Given the description of an element on the screen output the (x, y) to click on. 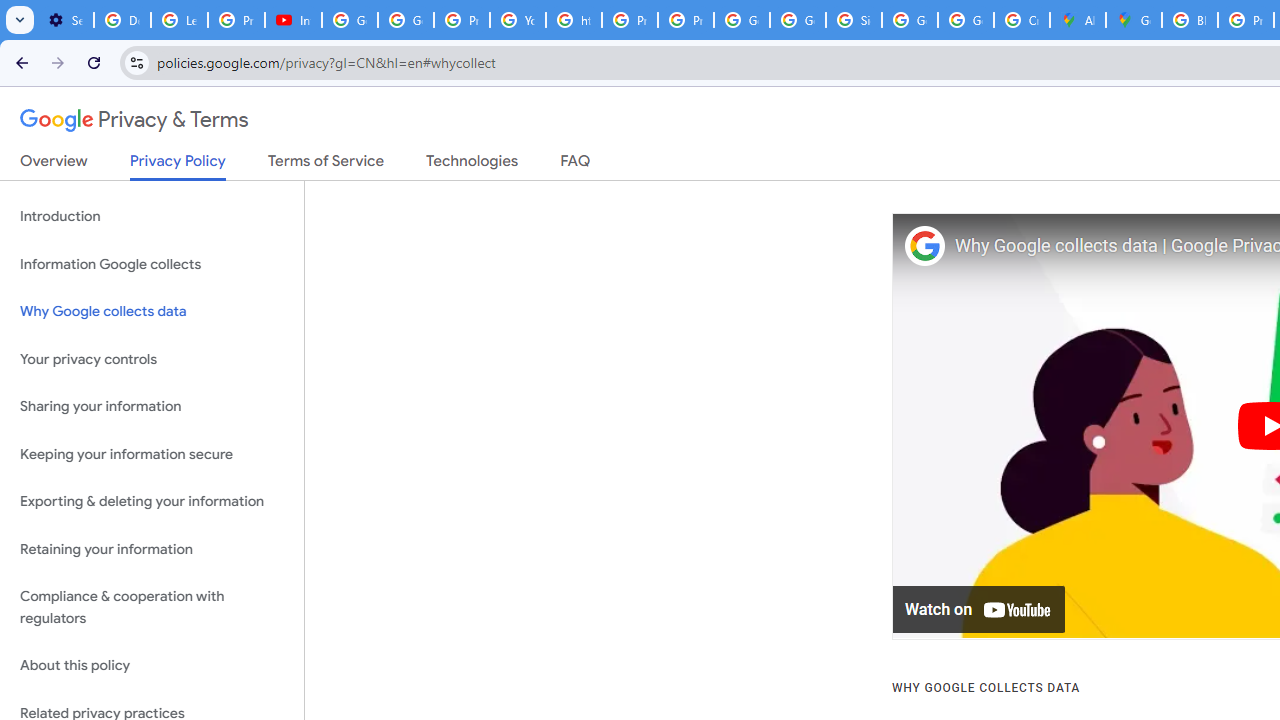
Learn how to find your photos - Google Photos Help (179, 20)
Google Account Help (349, 20)
Sign in - Google Accounts (853, 20)
Privacy Help Center - Policies Help (629, 20)
Keeping your information secure (152, 453)
Exporting & deleting your information (152, 502)
